Given the description of an element on the screen output the (x, y) to click on. 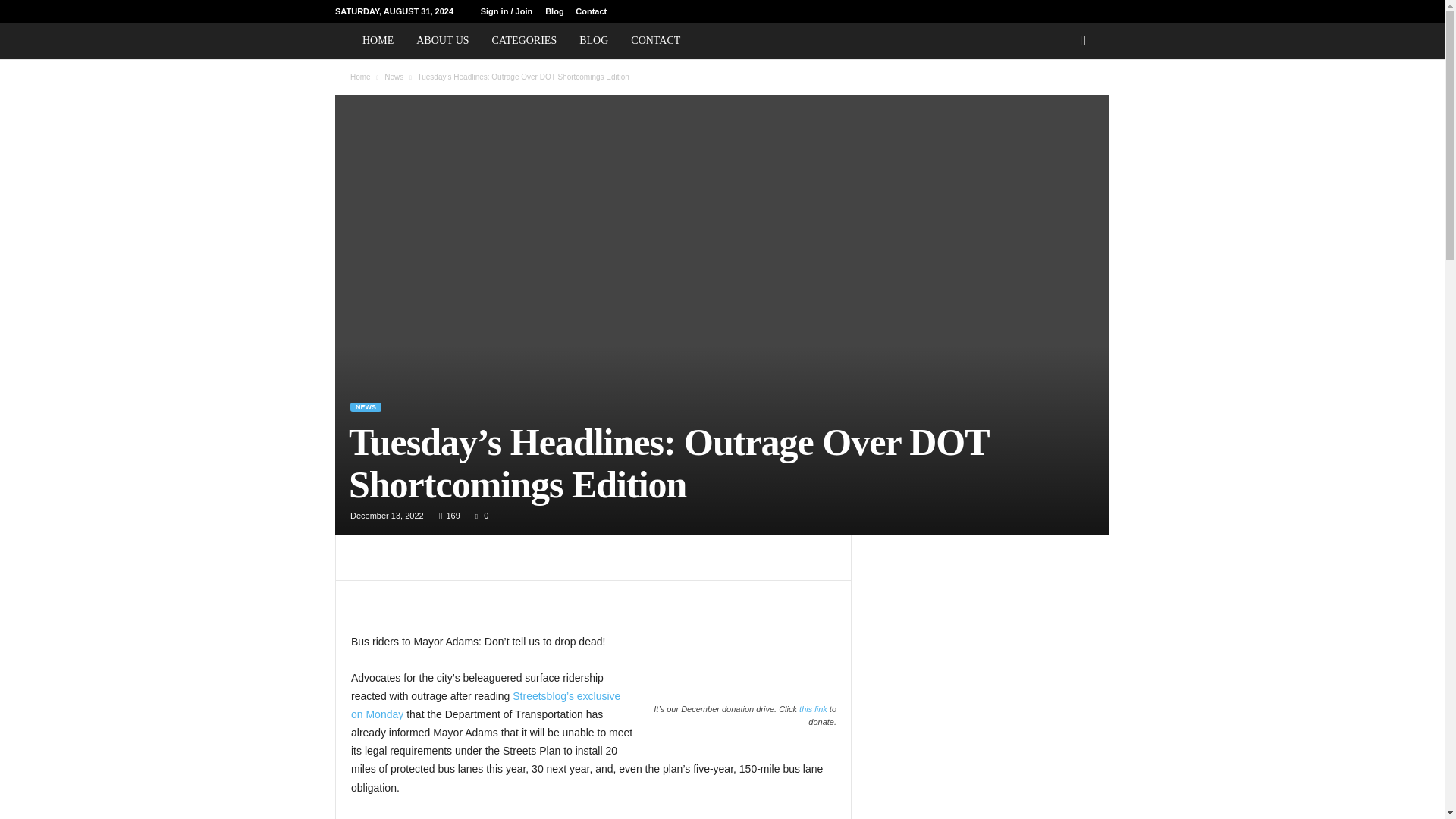
HOME (377, 40)
Home (360, 76)
View all posts in News (393, 76)
CATEGORIES (524, 40)
Contact (591, 10)
BLOG (593, 40)
News (393, 76)
ABOUT US (442, 40)
Blog (553, 10)
CONTACT (655, 40)
